Given the description of an element on the screen output the (x, y) to click on. 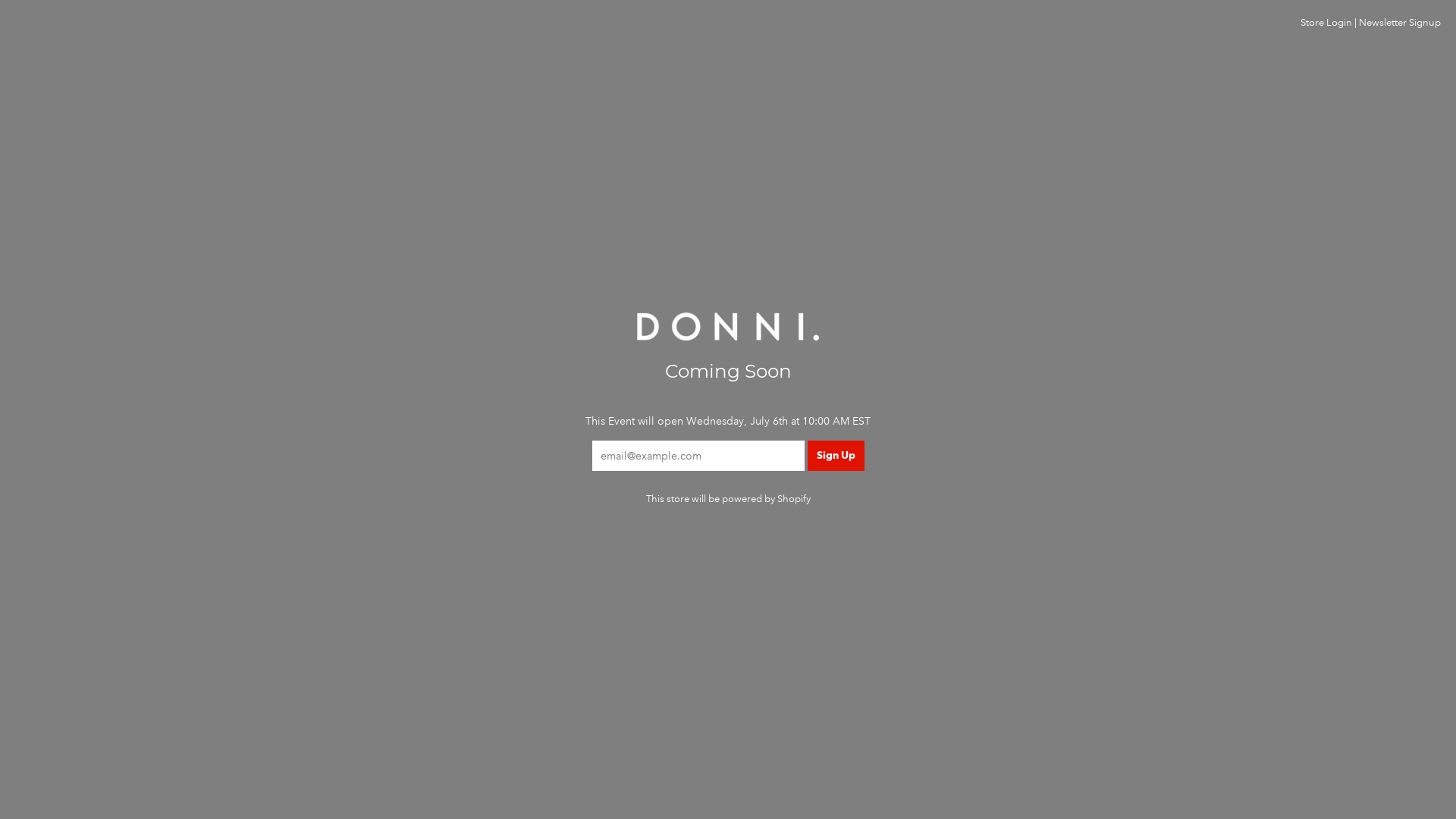
Sign Up Element type: text (834, 455)
Newsletter Signup Element type: text (1399, 22)
Shopify Element type: text (792, 498)
Store Login Element type: text (1326, 22)
